Given the description of an element on the screen output the (x, y) to click on. 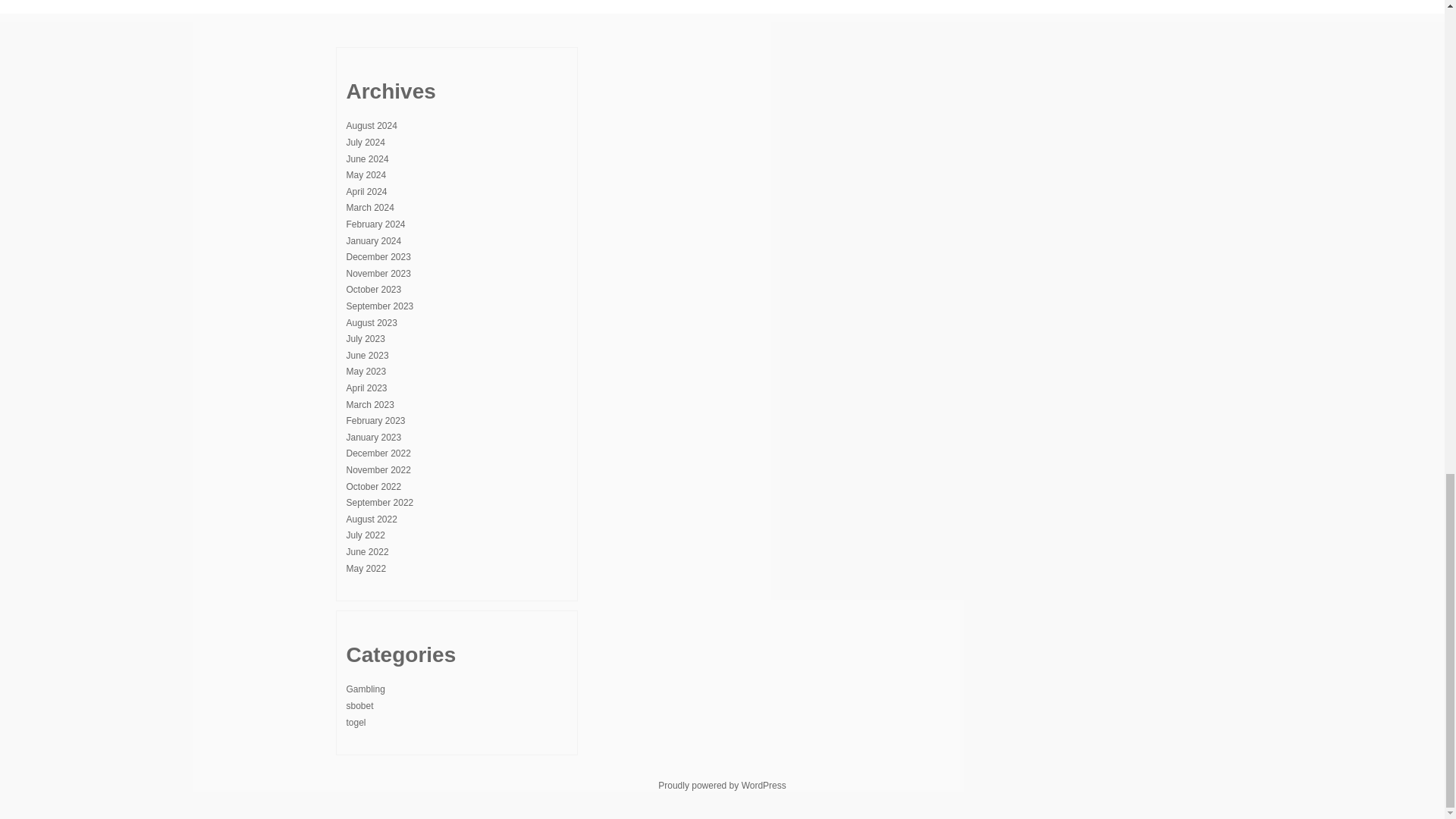
September 2023 (379, 306)
April 2023 (366, 388)
March 2024 (369, 207)
February 2024 (375, 224)
February 2023 (375, 420)
March 2023 (369, 404)
January 2024 (373, 240)
July 2023 (365, 338)
December 2023 (378, 256)
May 2023 (365, 371)
